Given the description of an element on the screen output the (x, y) to click on. 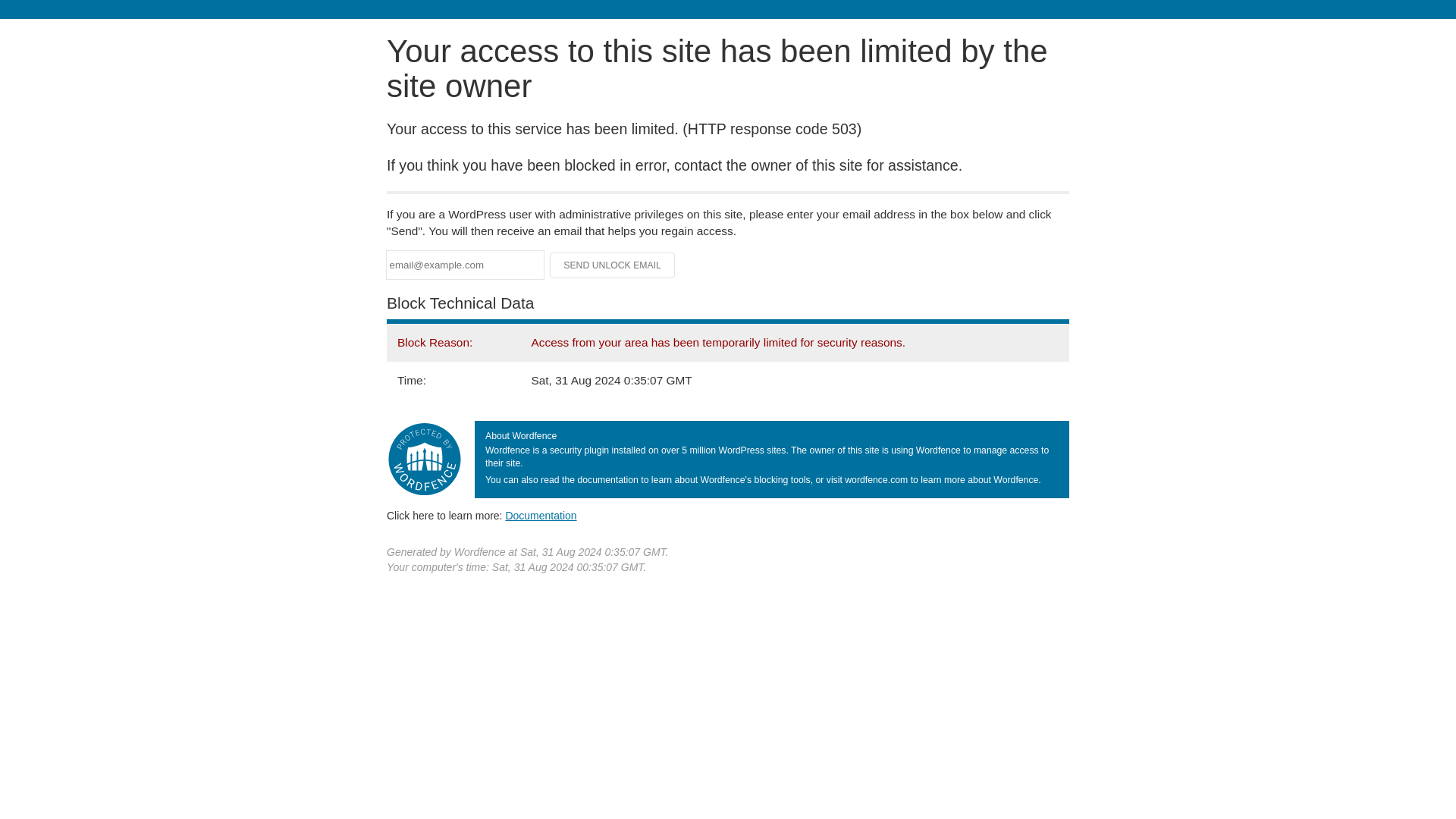
Documentation (540, 515)
Send Unlock Email (612, 265)
Send Unlock Email (612, 265)
